Given the description of an element on the screen output the (x, y) to click on. 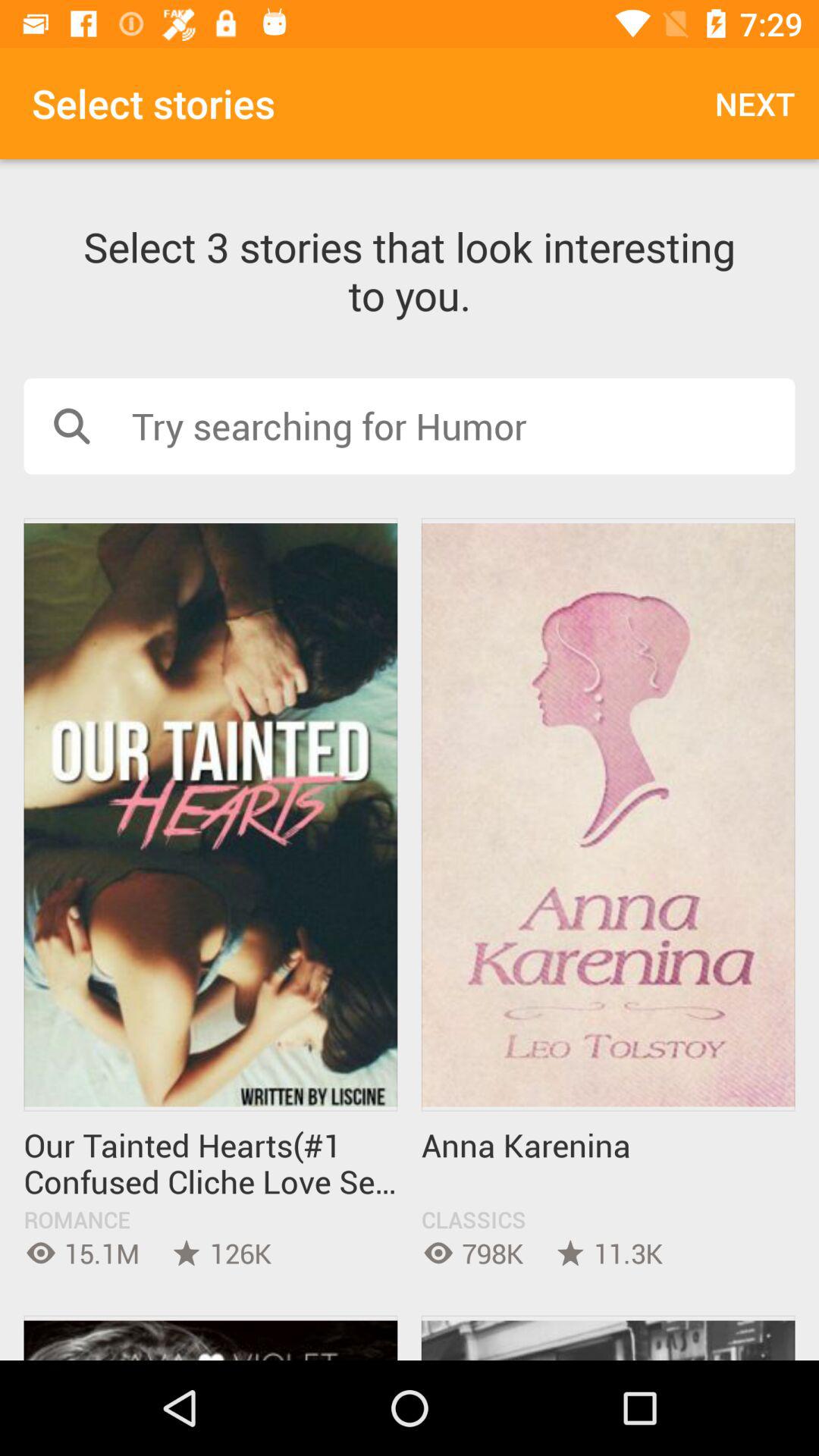
launch the next icon (755, 103)
